Given the description of an element on the screen output the (x, y) to click on. 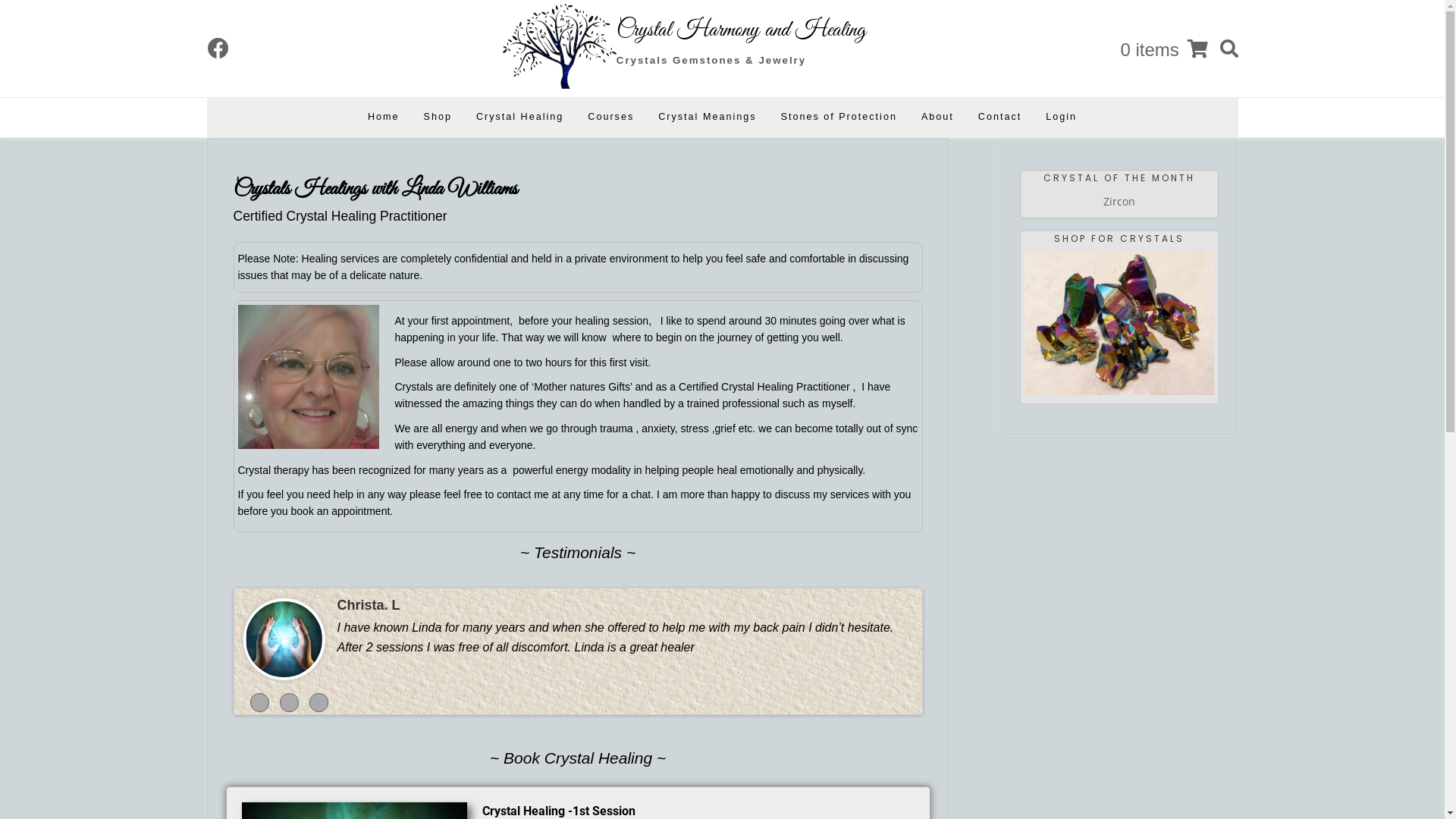
Contact Element type: text (999, 117)
1 Element type: text (259, 702)
Courses Element type: text (610, 117)
About Element type: text (937, 117)
Login Element type: text (1060, 117)
Crystal Meanings Element type: text (707, 117)
3 Element type: text (318, 702)
2 Element type: text (288, 702)
Find Us on Facebook Element type: hover (218, 48)
Shop Element type: text (437, 117)
0 items Element type: text (1163, 49)
Crystal Healing Element type: text (519, 117)
Stones of Protection Element type: text (838, 117)
Crystal Harmony and Healing Element type: text (741, 30)
Zircon Element type: text (1119, 201)
Home Element type: text (383, 117)
